Given the description of an element on the screen output the (x, y) to click on. 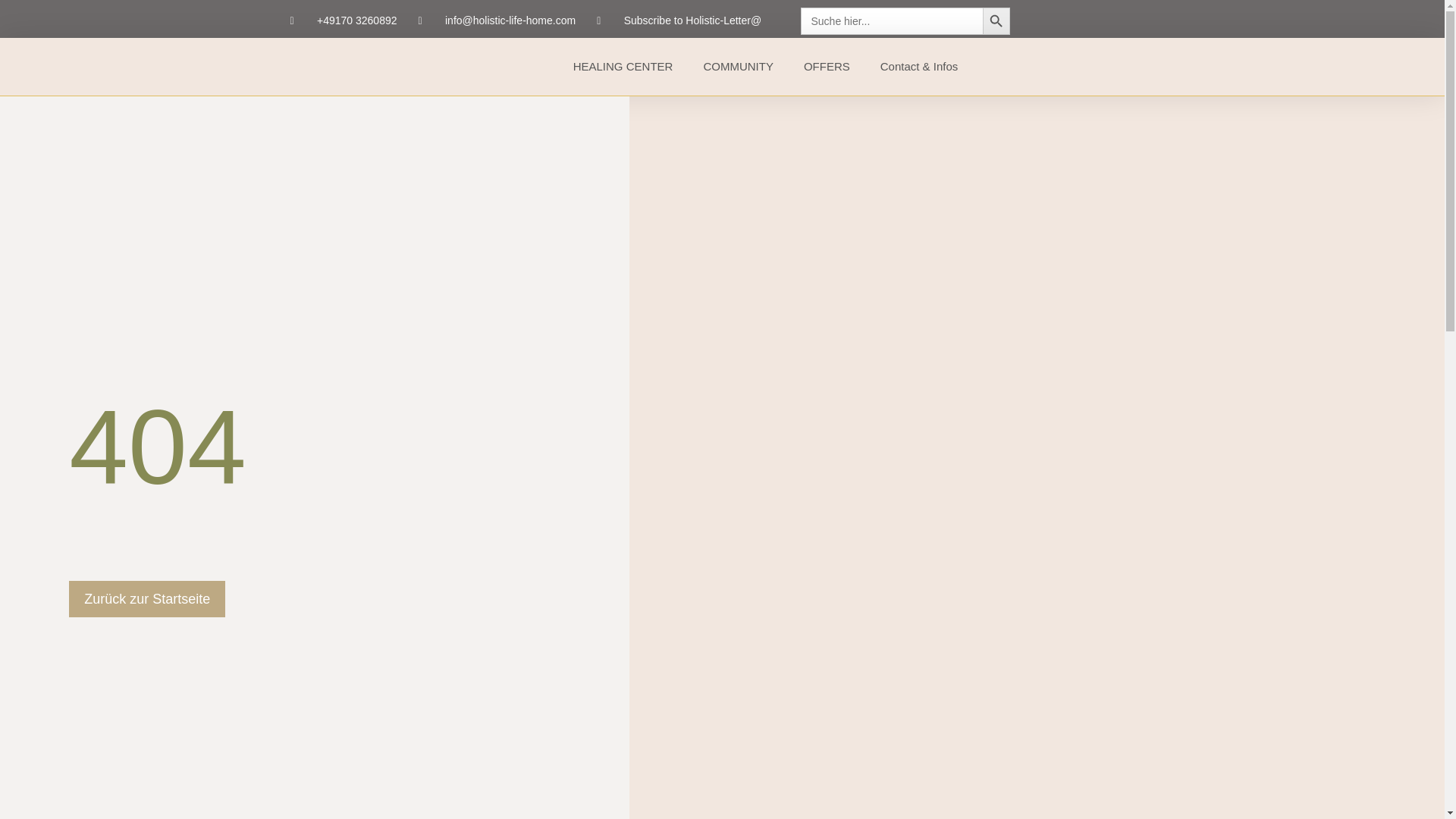
COMMUNITY (738, 66)
OFFERS (826, 66)
Search Button (996, 21)
HEALING CENTER (622, 66)
